Given the description of an element on the screen output the (x, y) to click on. 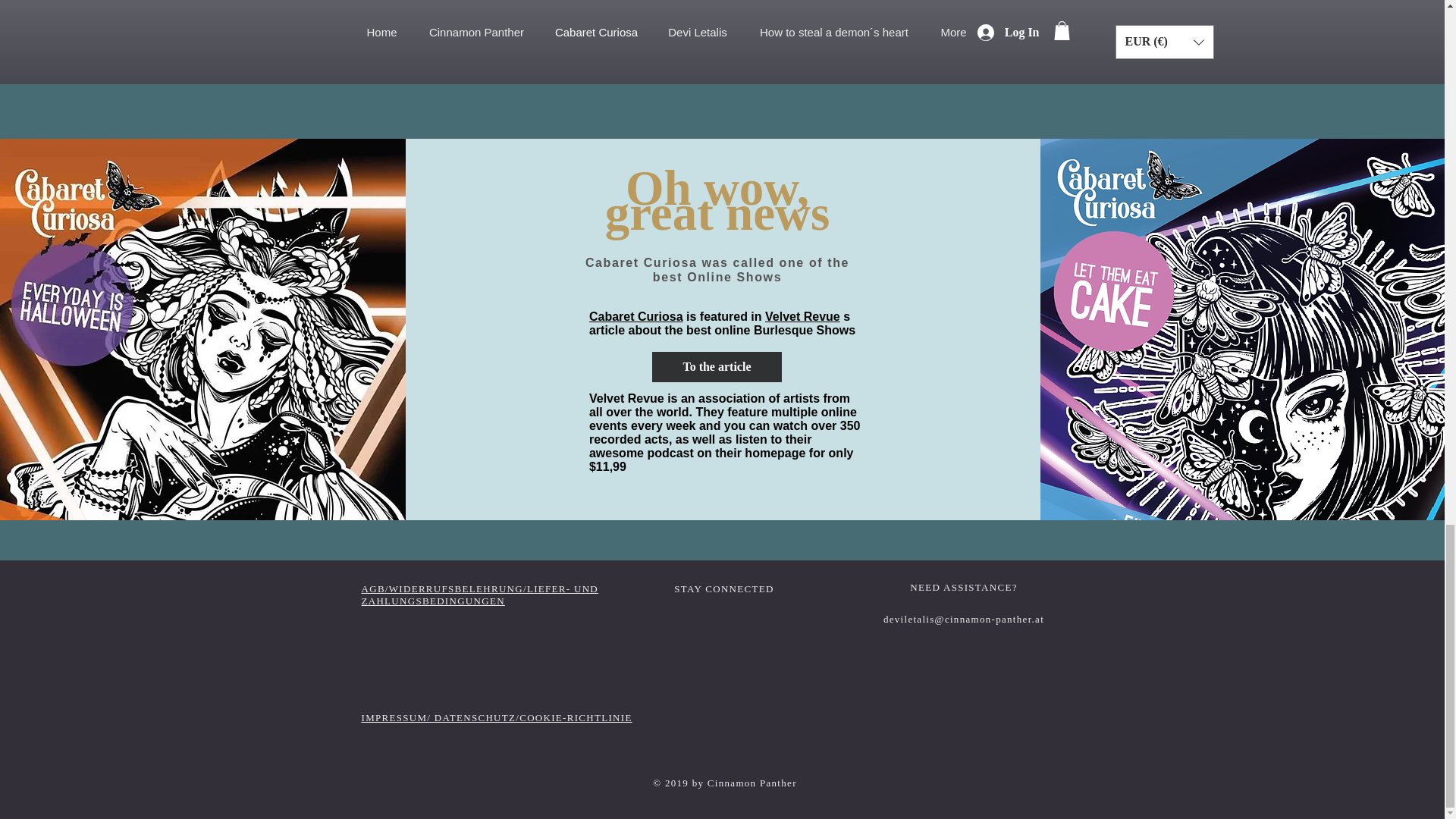
Cabaret Curiosa (635, 316)
Velvet Revue (802, 316)
To the article (716, 367)
